Given the description of an element on the screen output the (x, y) to click on. 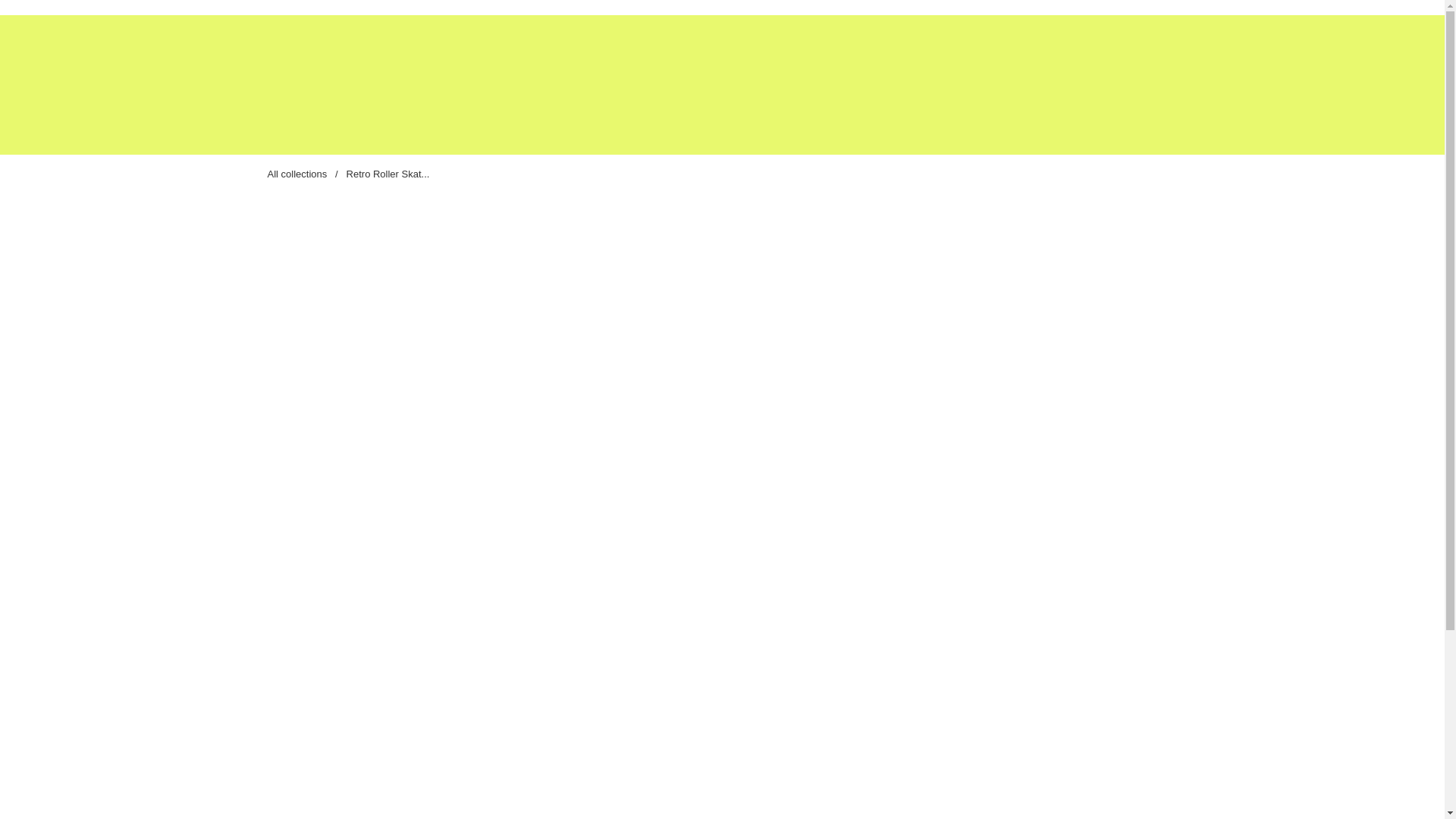
All collections (296, 173)
